Given the description of an element on the screen output the (x, y) to click on. 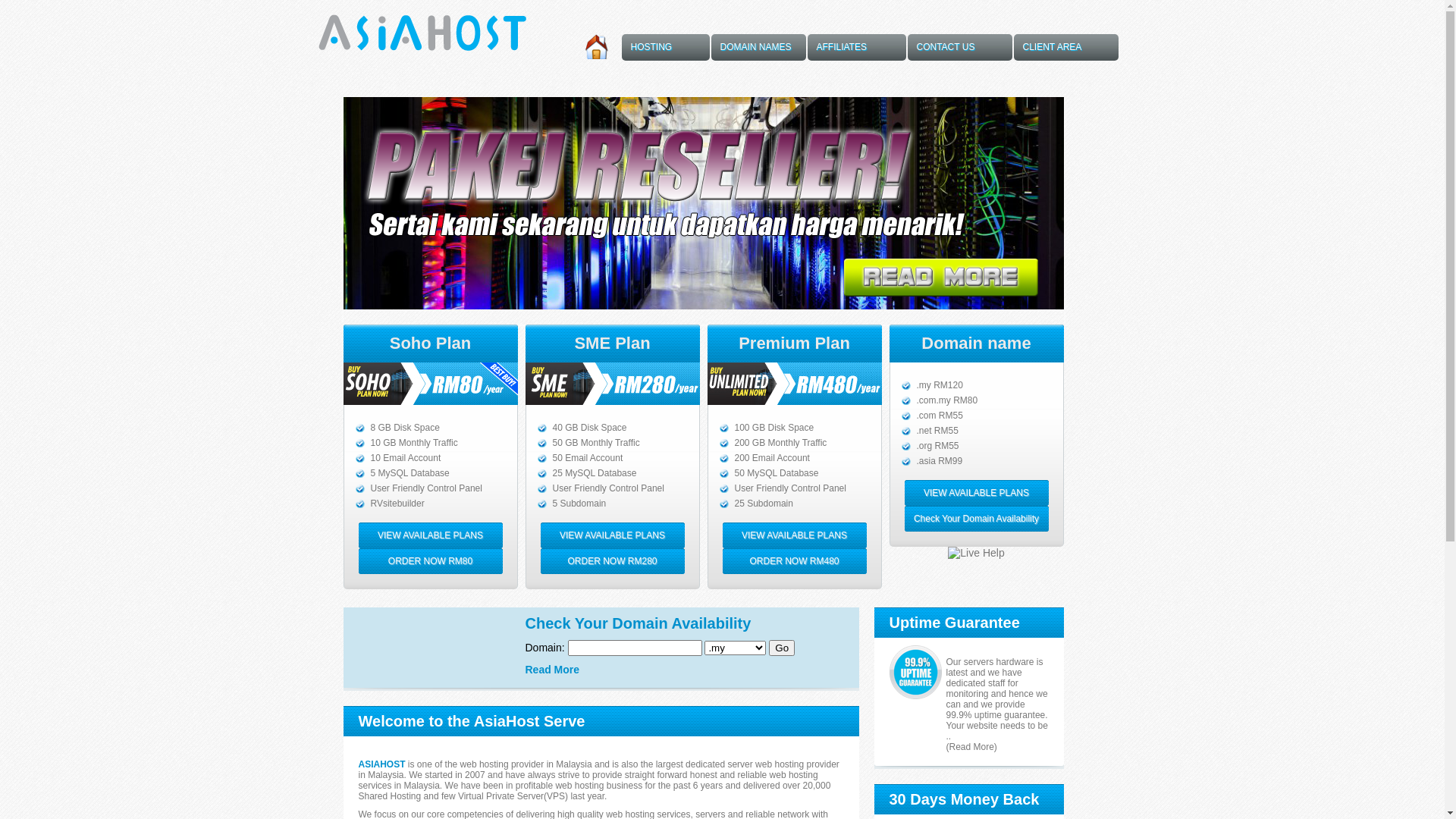
AFFILIATES Element type: text (855, 47)
VIEW AVAILABLE PLANS Element type: text (793, 535)
ORDER NOW RM280 Element type: text (611, 561)
Check Your Domain Availability Element type: text (975, 518)
Go Element type: text (781, 647)
HOSTING Element type: text (665, 47)
VIEW AVAILABLE PLANS Element type: text (975, 492)
ORDER NOW RM80 Element type: text (429, 561)
CLIENT AREA Element type: text (1065, 47)
(Read More) Element type: text (971, 746)
Read More Element type: text (551, 669)
ORDER NOW RM480 Element type: text (793, 561)
CONTACT US Element type: text (958, 47)
VIEW AVAILABLE PLANS Element type: text (611, 535)
DOMAIN NAMES Element type: text (758, 47)
VIEW AVAILABLE PLANS Element type: text (429, 535)
